Given the description of an element on the screen output the (x, y) to click on. 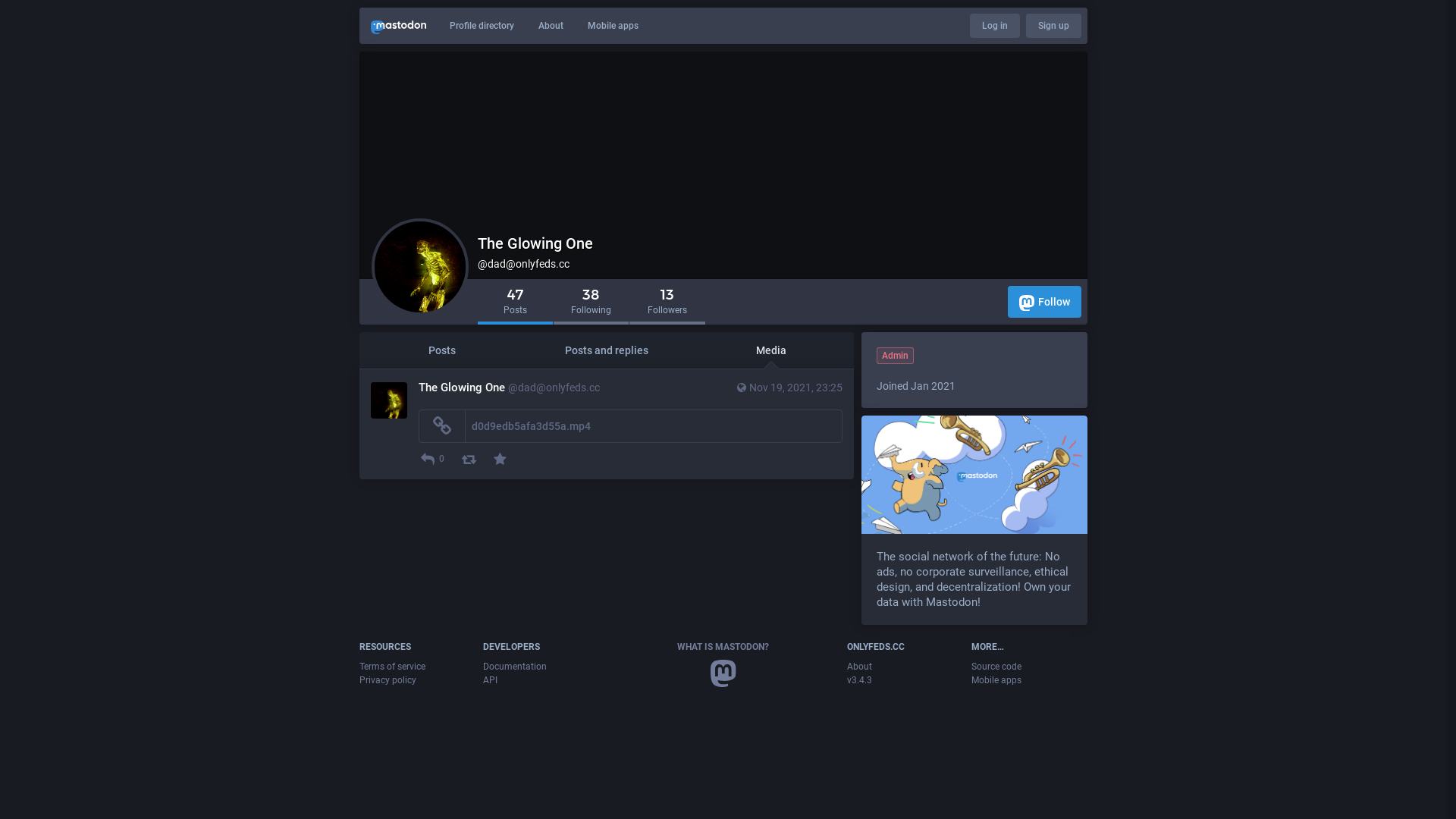
Log in Element type: text (994, 25)
WHAT IS MASTODON? Element type: text (722, 646)
Mobile apps Element type: text (996, 679)
Privacy policy Element type: text (387, 679)
Posts and replies Element type: text (606, 350)
38
Following Element type: text (591, 302)
Source code Element type: text (996, 666)
Terms of service Element type: text (392, 666)
Sign up Element type: text (1053, 25)
API Element type: text (490, 679)
d0d9edb5afa3d55a.mp4 Element type: text (530, 426)
Media Element type: text (771, 350)
47
Posts Element type: text (515, 302)
13
Followers Element type: text (667, 302)
About Element type: text (859, 666)
The Glowing One @dad@onlyfeds.cc Element type: text (630, 387)
Nov 19, 2021, 23:25 Element type: text (788, 387)
Public Element type: hover (741, 387)
Posts Element type: text (441, 350)
Profile directory Element type: text (481, 25)
About Element type: text (550, 25)
Documentation Element type: text (514, 666)
Mobile apps Element type: text (612, 25)
Follow Element type: text (1044, 301)
0 Element type: text (433, 458)
